Given the description of an element on the screen output the (x, y) to click on. 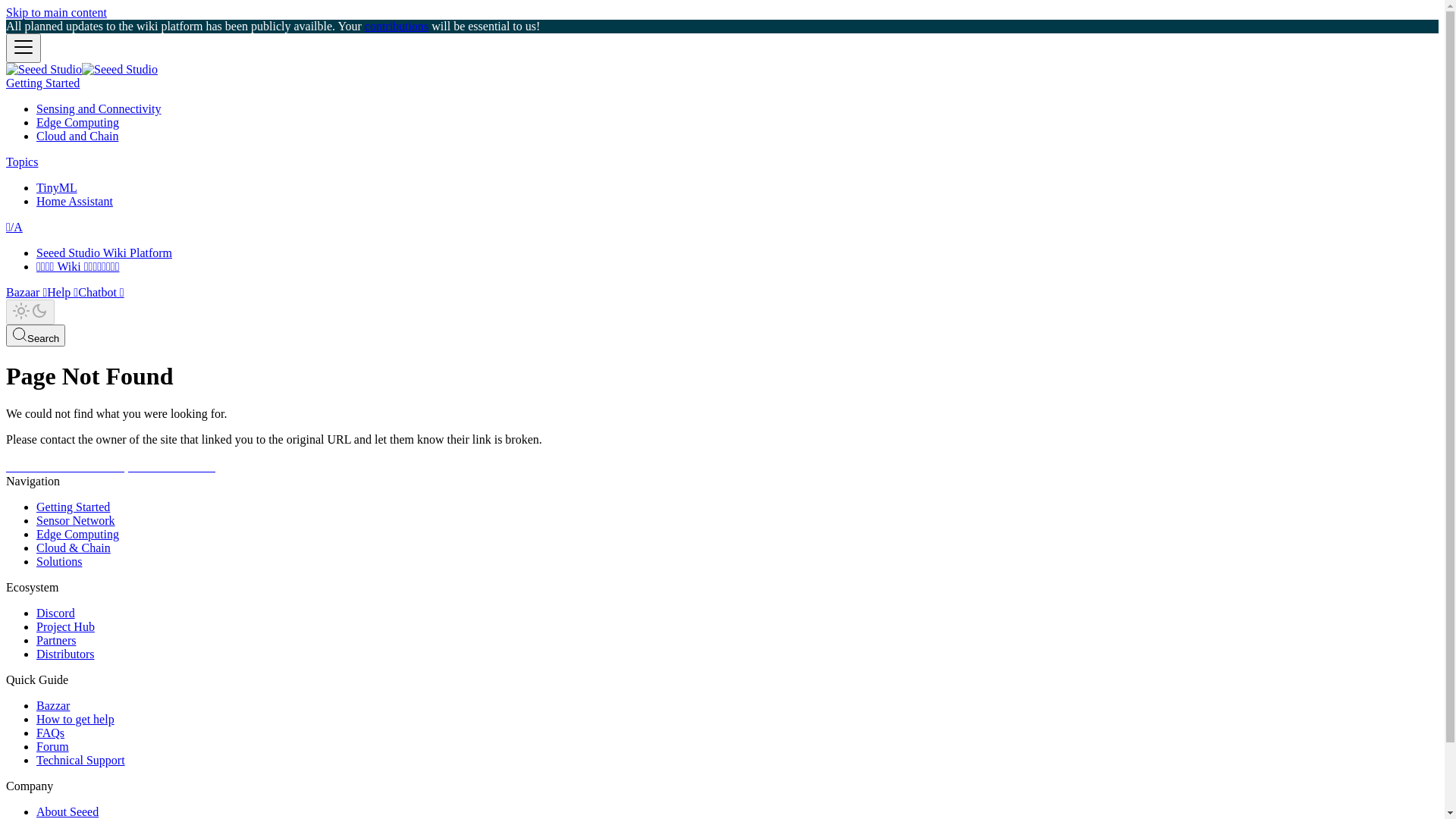
Edge Computing Element type: text (77, 533)
Sensor Network Element type: text (75, 520)
Search Element type: text (35, 335)
Report on GitHub Element type: text (161, 466)
Sensing and Connectivity Element type: text (98, 108)
Forum Element type: text (52, 746)
Cloud and Chain Element type: text (77, 135)
Edge Computing Element type: text (77, 122)
Home Assistant Element type: text (74, 200)
Switch between dark and light mode (currently dark mode) Element type: hover (30, 311)
Partners Element type: text (55, 639)
Discord Element type: text (55, 612)
Getting Started Element type: text (42, 82)
Cloud & Chain Element type: text (73, 547)
Seeed Studio Wiki Platform Element type: text (104, 252)
About Seeed Element type: text (67, 811)
Topics Element type: text (21, 161)
Bazzar Element type: text (52, 705)
Distributors Element type: text (65, 653)
How to get help Element type: text (75, 718)
Solutions Element type: text (58, 561)
Technical Support Element type: text (80, 759)
Skip to main content Element type: text (56, 12)
Getting Started Element type: text (72, 506)
Back to the Start Element type: text (57, 466)
TinyML Element type: text (56, 187)
FAQs Element type: text (50, 732)
Project Hub Element type: text (65, 626)
contributions Element type: text (396, 25)
